Given the description of an element on the screen output the (x, y) to click on. 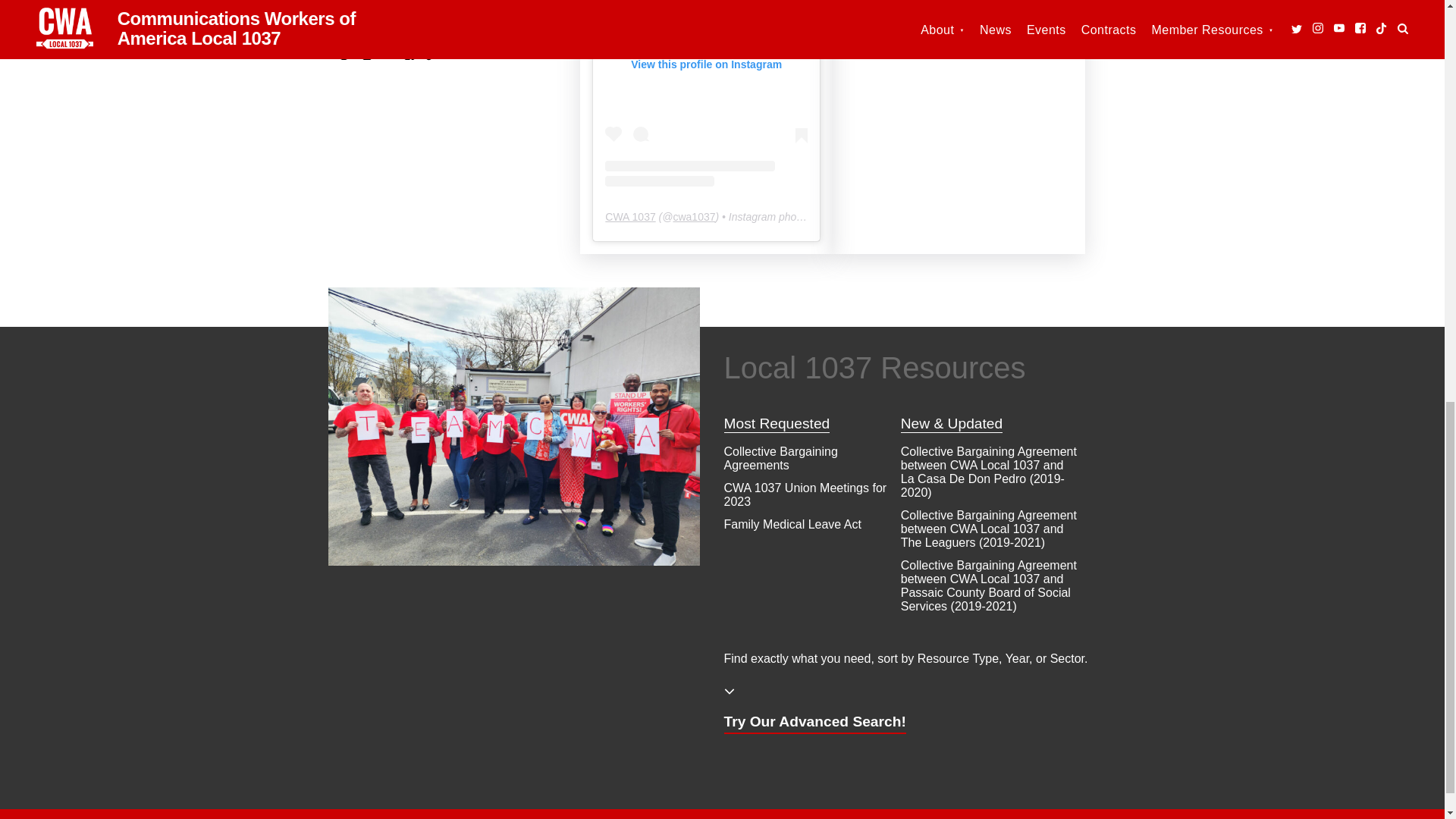
cwa1037 (693, 216)
CWA 1037 (630, 216)
Facebook (408, 54)
Instagram (366, 54)
Collective Bargaining Agreements (780, 458)
Twitter (344, 55)
View this profile on Instagram (706, 93)
Down Arrow (728, 691)
